Given the description of an element on the screen output the (x, y) to click on. 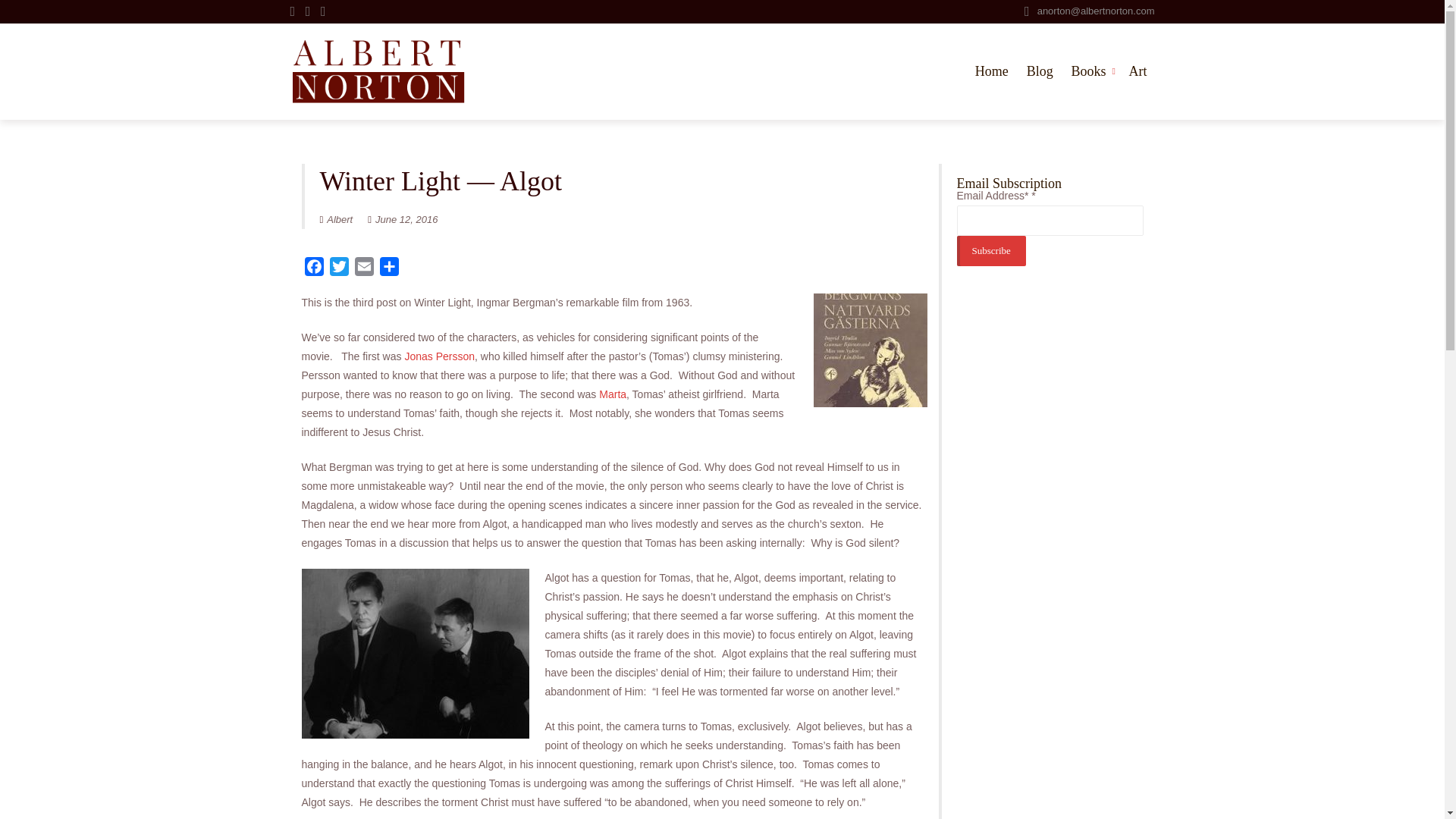
Subscribe (991, 250)
Books (1091, 71)
June 12, 2016 (403, 219)
Home (992, 71)
Subscribe (991, 250)
Albert (336, 219)
Email (364, 269)
Art (1137, 71)
Jonas Persson (439, 356)
Facebook (313, 269)
Marta (612, 394)
Blog (1040, 71)
Email (364, 269)
Facebook (313, 269)
Twitter (338, 269)
